Given the description of an element on the screen output the (x, y) to click on. 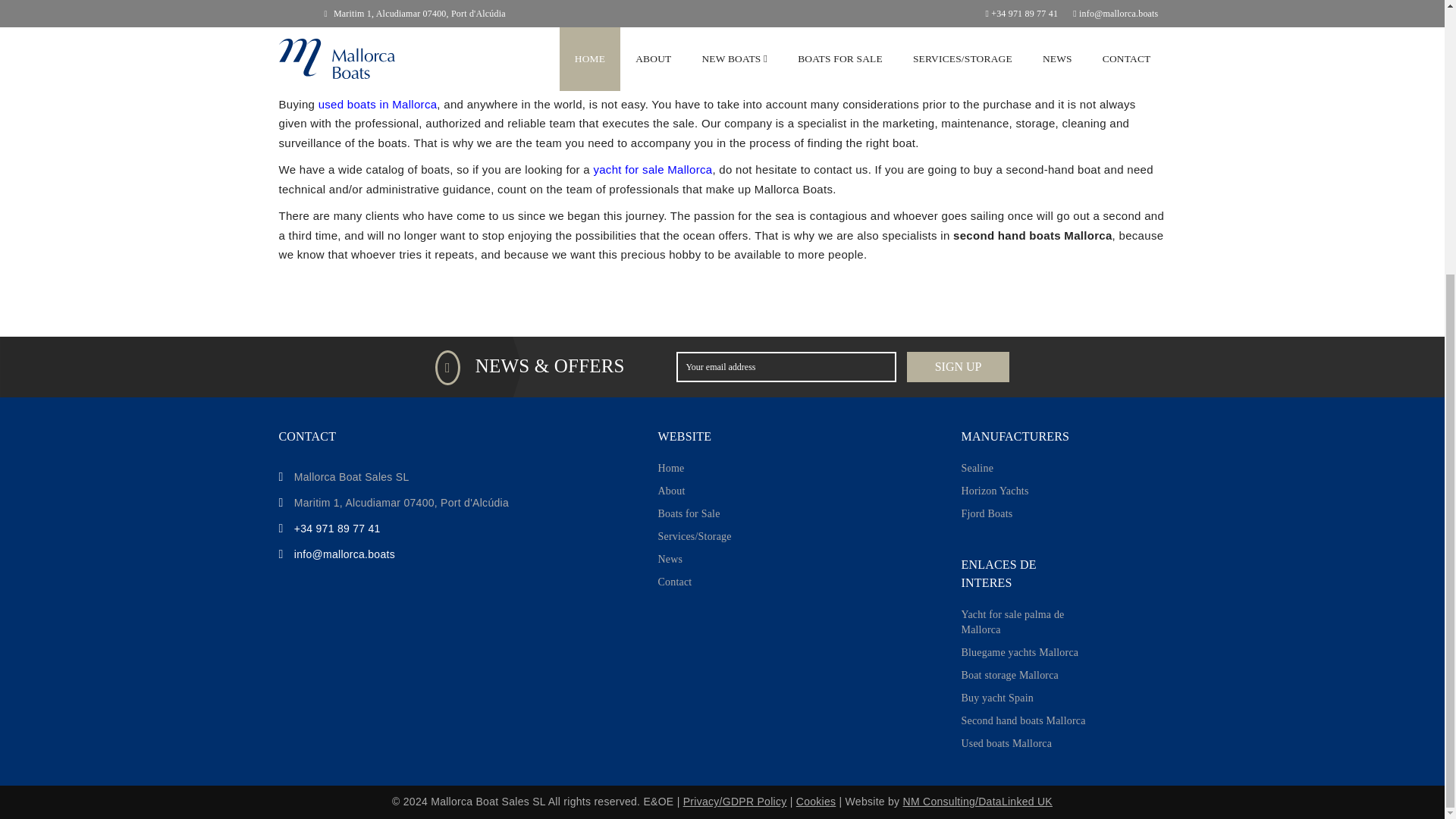
used boats in Mallorca (378, 103)
Boats for Sale (689, 513)
yacht for sale palma de Mallorca (1024, 622)
Yacht for sale palma de Mallorca (1024, 622)
buy yacht Spain (996, 698)
used boats in Mallorca (378, 103)
SIGN UP (958, 367)
Boat storage Mallorca (1009, 675)
Home (671, 468)
Contact (675, 581)
